Given the description of an element on the screen output the (x, y) to click on. 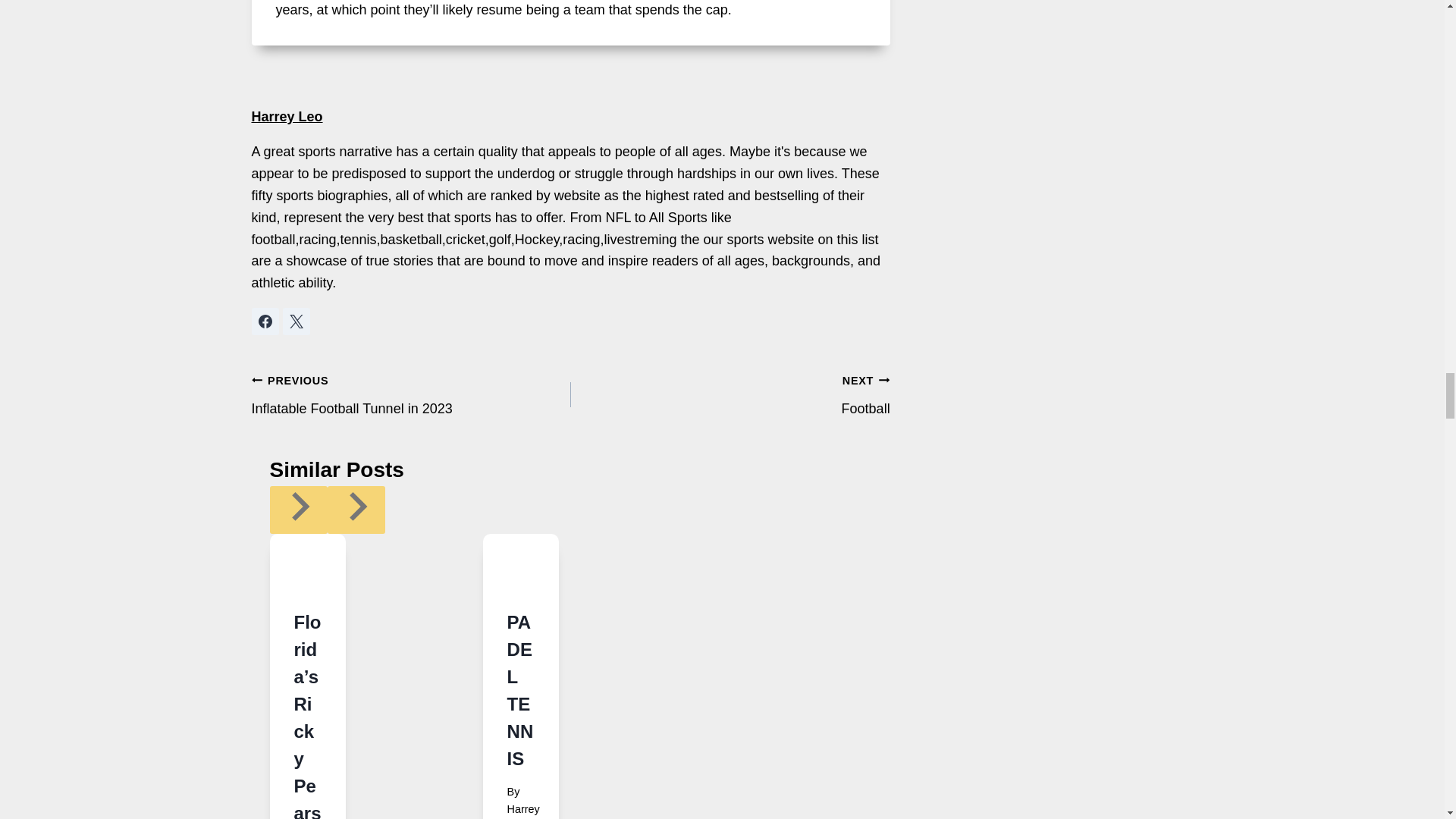
Posts by Harrey Leo (287, 116)
Follow Harrey Leo on Facebook (265, 320)
Follow Harrey Leo on X formerly Twitter (296, 320)
